Given the description of an element on the screen output the (x, y) to click on. 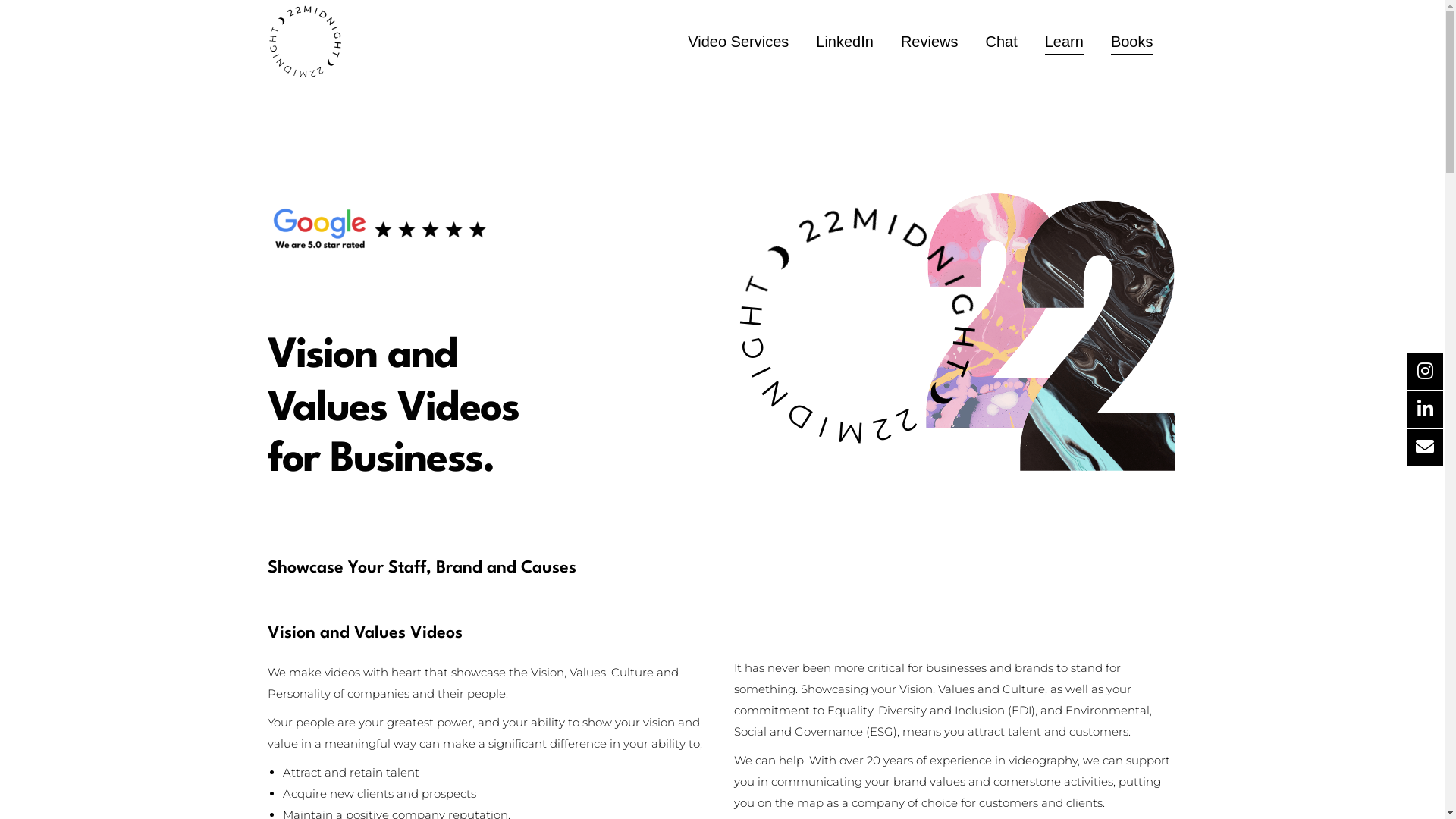
Books Element type: text (1131, 41)
LinkedIn Element type: text (844, 41)
Learn Element type: text (1063, 41)
Reviews Element type: text (929, 41)
Video Services Element type: text (737, 41)
Chat Element type: text (1001, 41)
22 Midnight Logo Black LG Element type: hover (858, 324)
